Given the description of an element on the screen output the (x, y) to click on. 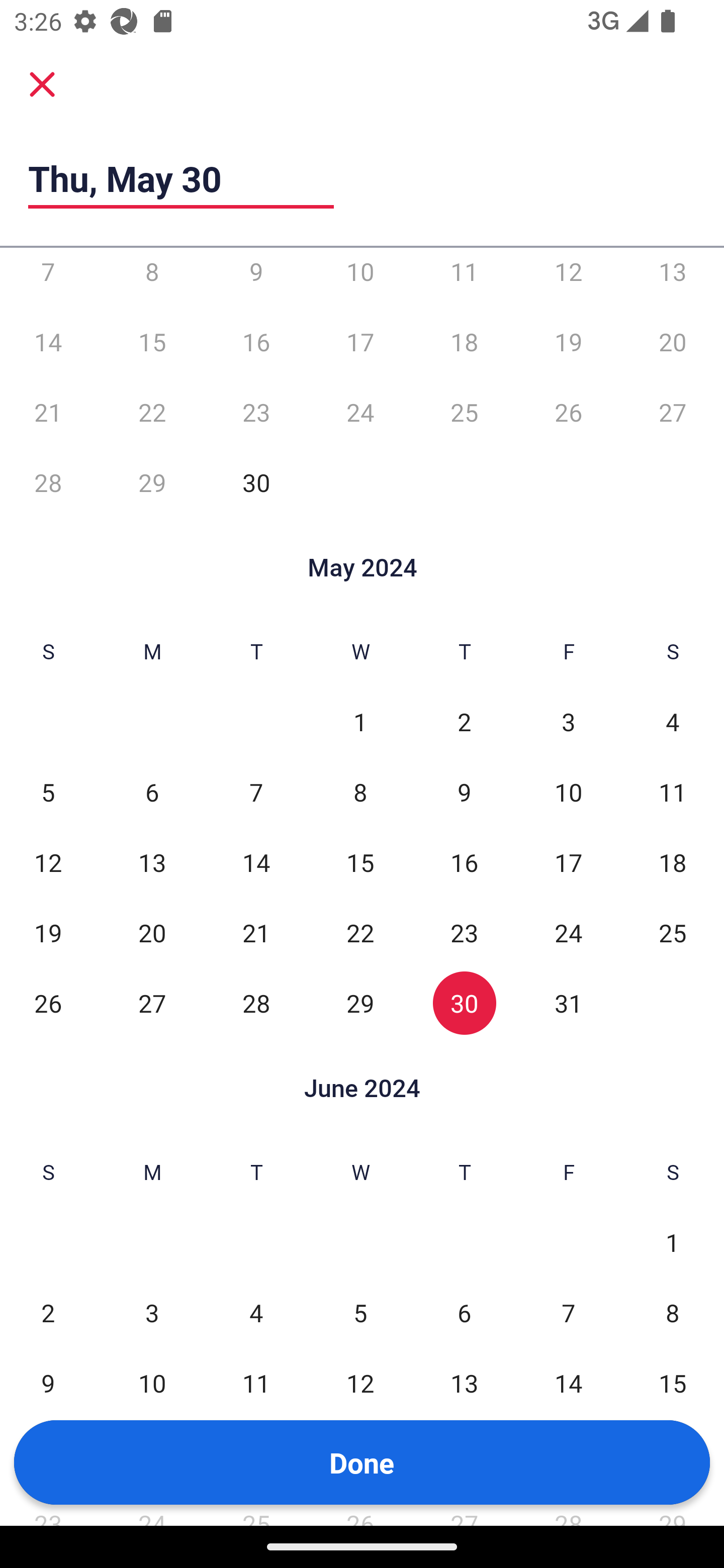
Cancel (41, 83)
Thu, May 30 (180, 178)
7 Sun, Apr 7, Not Selected (48, 277)
8 Mon, Apr 8, Not Selected (152, 277)
9 Tue, Apr 9, Not Selected (256, 277)
10 Wed, Apr 10, Not Selected (360, 277)
11 Thu, Apr 11, Not Selected (464, 277)
12 Fri, Apr 12, Not Selected (568, 277)
13 Sat, Apr 13, Not Selected (672, 277)
14 Sun, Apr 14, Not Selected (48, 341)
15 Mon, Apr 15, Not Selected (152, 341)
16 Tue, Apr 16, Not Selected (256, 341)
17 Wed, Apr 17, Not Selected (360, 341)
18 Thu, Apr 18, Not Selected (464, 341)
19 Fri, Apr 19, Not Selected (568, 341)
20 Sat, Apr 20, Not Selected (672, 341)
21 Sun, Apr 21, Not Selected (48, 411)
22 Mon, Apr 22, Not Selected (152, 411)
23 Tue, Apr 23, Not Selected (256, 411)
24 Wed, Apr 24, Not Selected (360, 411)
25 Thu, Apr 25, Not Selected (464, 411)
26 Fri, Apr 26, Not Selected (568, 411)
27 Sat, Apr 27, Not Selected (672, 411)
28 Sun, Apr 28, Not Selected (48, 481)
29 Mon, Apr 29, Not Selected (152, 481)
30 Tue, Apr 30, Not Selected (256, 481)
1 Wed, May 1, Not Selected (360, 721)
2 Thu, May 2, Not Selected (464, 721)
3 Fri, May 3, Not Selected (568, 721)
4 Sat, May 4, Not Selected (672, 721)
5 Sun, May 5, Not Selected (48, 792)
6 Mon, May 6, Not Selected (152, 792)
7 Tue, May 7, Not Selected (256, 792)
8 Wed, May 8, Not Selected (360, 792)
9 Thu, May 9, Not Selected (464, 792)
10 Fri, May 10, Not Selected (568, 792)
11 Sat, May 11, Not Selected (672, 792)
12 Sun, May 12, Not Selected (48, 861)
13 Mon, May 13, Not Selected (152, 861)
14 Tue, May 14, Not Selected (256, 861)
15 Wed, May 15, Not Selected (360, 861)
16 Thu, May 16, Not Selected (464, 861)
17 Fri, May 17, Not Selected (568, 861)
18 Sat, May 18, Not Selected (672, 861)
19 Sun, May 19, Not Selected (48, 931)
20 Mon, May 20, Not Selected (152, 931)
21 Tue, May 21, Not Selected (256, 931)
22 Wed, May 22, Not Selected (360, 931)
23 Thu, May 23, Not Selected (464, 931)
24 Fri, May 24, Not Selected (568, 931)
25 Sat, May 25, Not Selected (672, 931)
26 Sun, May 26, Not Selected (48, 1002)
27 Mon, May 27, Not Selected (152, 1002)
28 Tue, May 28, Not Selected (256, 1002)
29 Wed, May 29, Not Selected (360, 1002)
30 Thu, May 30, Selected (464, 1002)
31 Fri, May 31, Not Selected (568, 1002)
1 Sat, Jun 1, Not Selected (672, 1242)
2 Sun, Jun 2, Not Selected (48, 1312)
3 Mon, Jun 3, Not Selected (152, 1312)
4 Tue, Jun 4, Not Selected (256, 1312)
5 Wed, Jun 5, Not Selected (360, 1312)
6 Thu, Jun 6, Not Selected (464, 1312)
7 Fri, Jun 7, Not Selected (568, 1312)
8 Sat, Jun 8, Not Selected (672, 1312)
9 Sun, Jun 9, Not Selected (48, 1382)
10 Mon, Jun 10, Not Selected (152, 1382)
11 Tue, Jun 11, Not Selected (256, 1382)
12 Wed, Jun 12, Not Selected (360, 1382)
13 Thu, Jun 13, Not Selected (464, 1382)
14 Fri, Jun 14, Not Selected (568, 1382)
15 Sat, Jun 15, Not Selected (672, 1382)
Done Button Done (361, 1462)
